Given the description of an element on the screen output the (x, y) to click on. 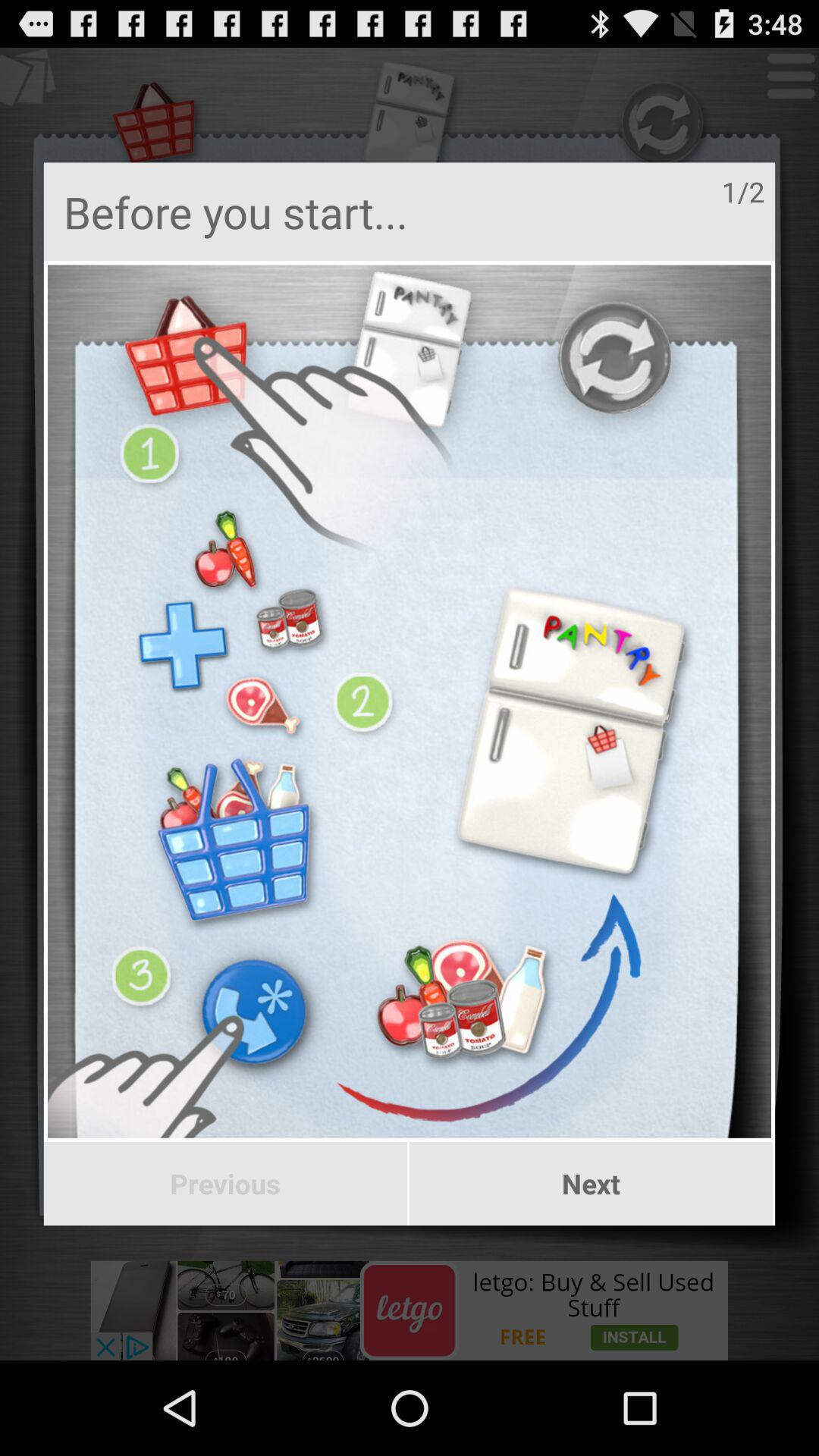
turn on the next icon (590, 1183)
